Given the description of an element on the screen output the (x, y) to click on. 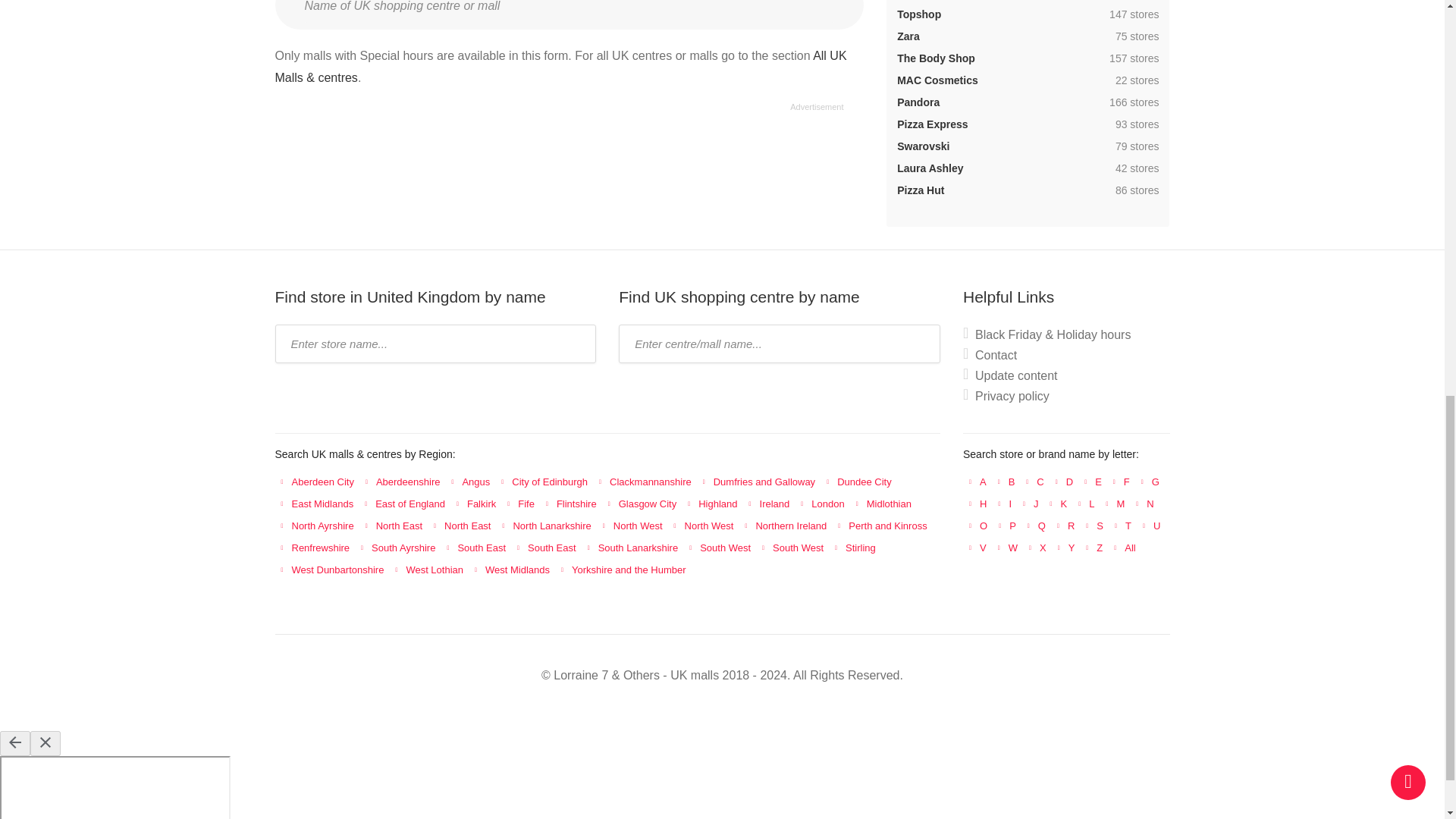
The Body Shop (935, 58)
Zara (908, 36)
Pandora (917, 102)
Topshop (918, 14)
MAC Cosmetics (937, 80)
